Given the description of an element on the screen output the (x, y) to click on. 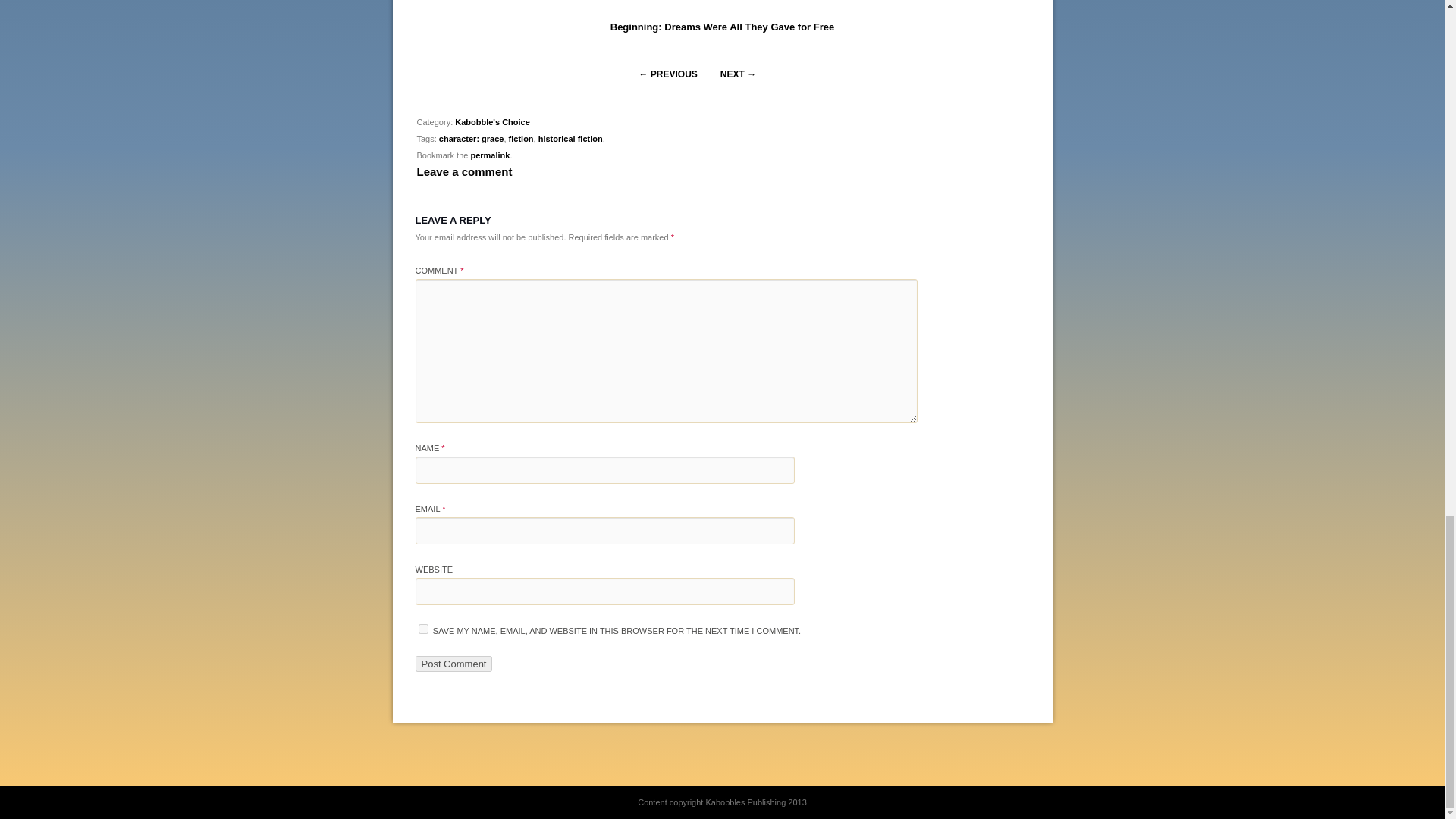
Kabobble's Choice (491, 121)
Beginning: Dreams Were All They Gave for Free (722, 26)
permalink (489, 154)
Post Comment (453, 663)
Post Comment (453, 663)
historical fiction (570, 138)
fiction (521, 138)
character: grace (471, 138)
Leave a comment (464, 171)
yes (423, 628)
